Given the description of an element on the screen output the (x, y) to click on. 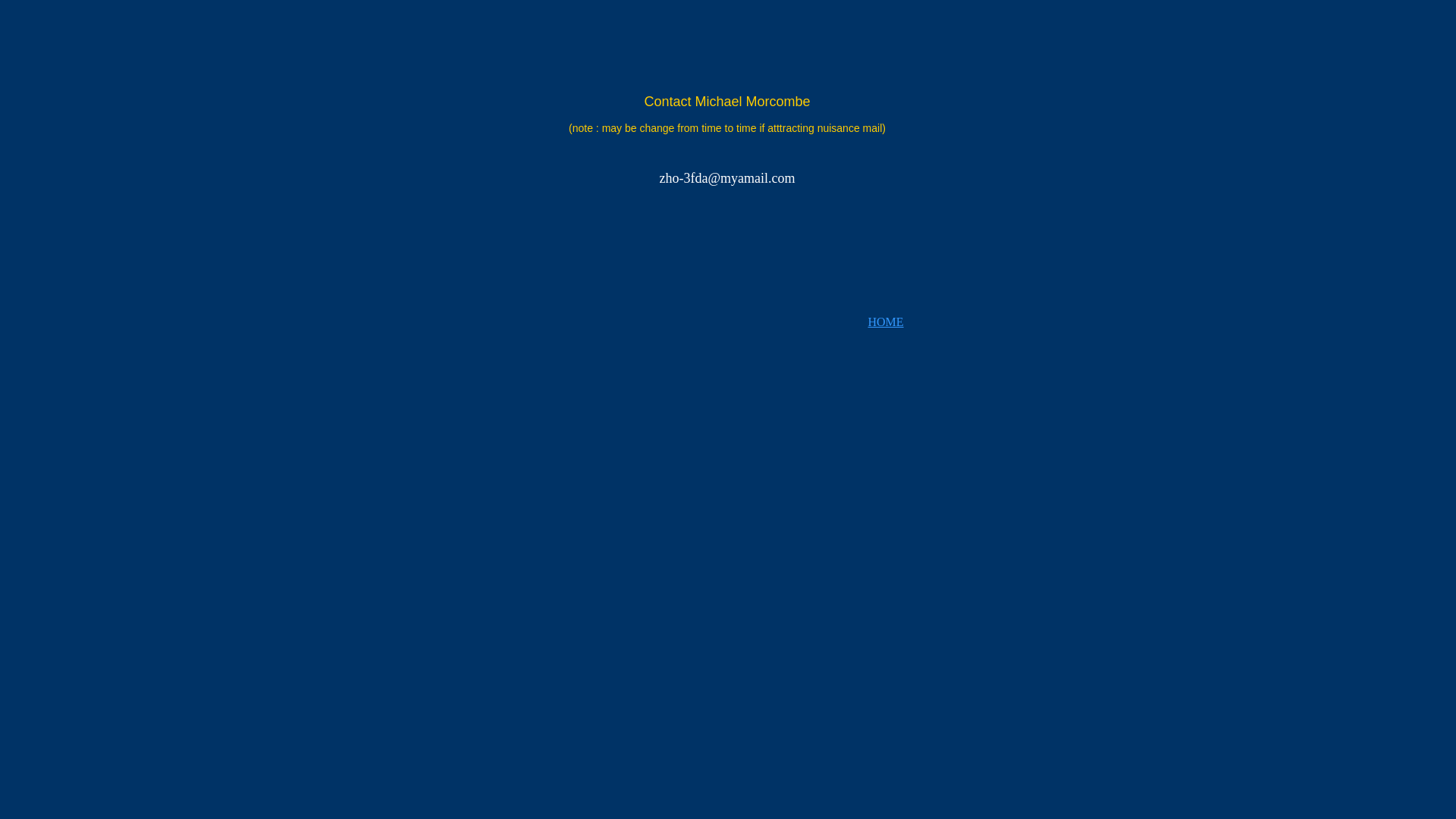
HOME Element type: text (885, 321)
